Given the description of an element on the screen output the (x, y) to click on. 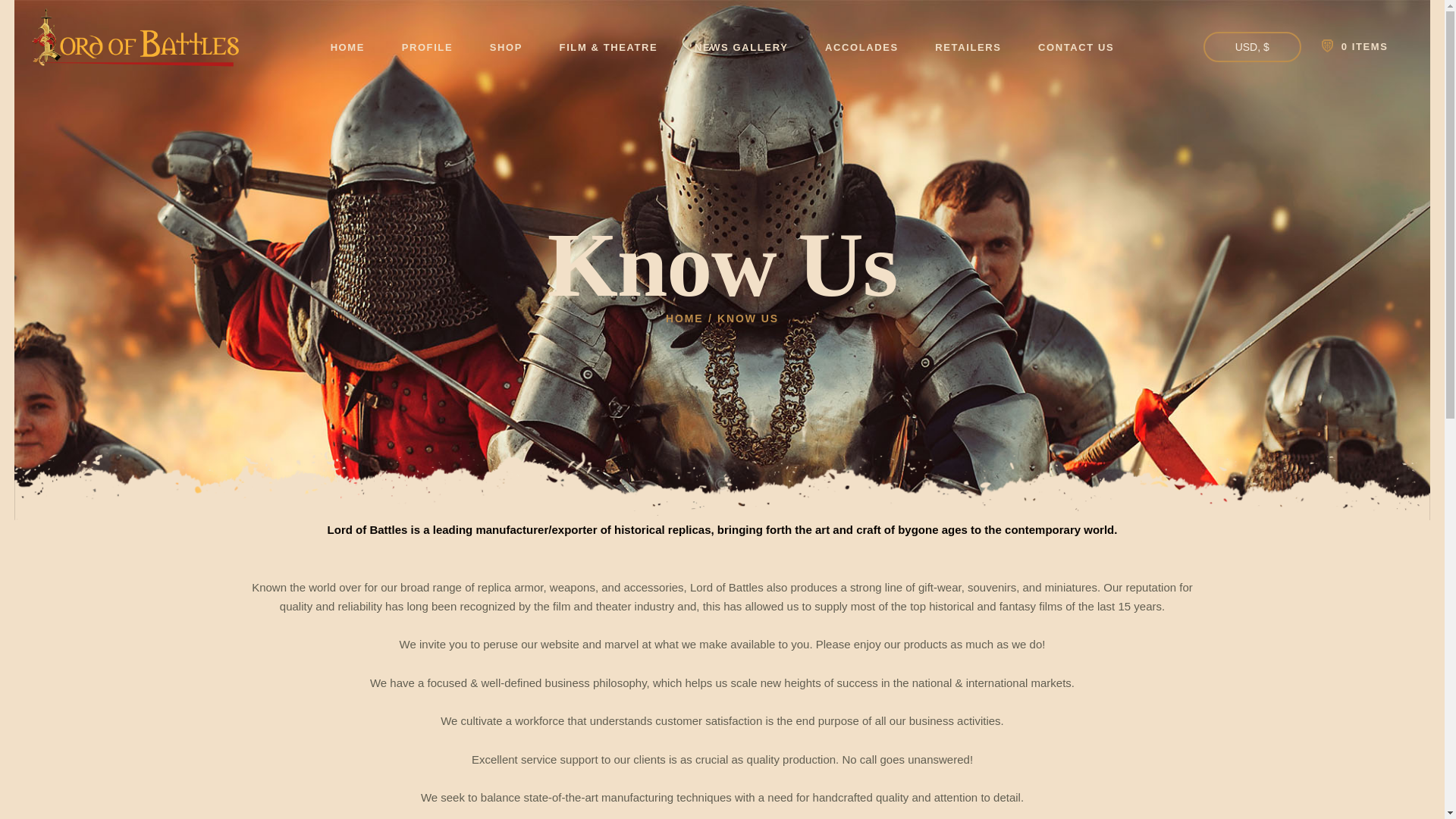
HOME (346, 47)
HOME (684, 318)
SHOP (505, 47)
PROFILE (426, 47)
CONTACT US (1076, 47)
NEWS GALLERY (741, 47)
ACCOLADES (861, 47)
RETAILERS (968, 47)
